Given the description of an element on the screen output the (x, y) to click on. 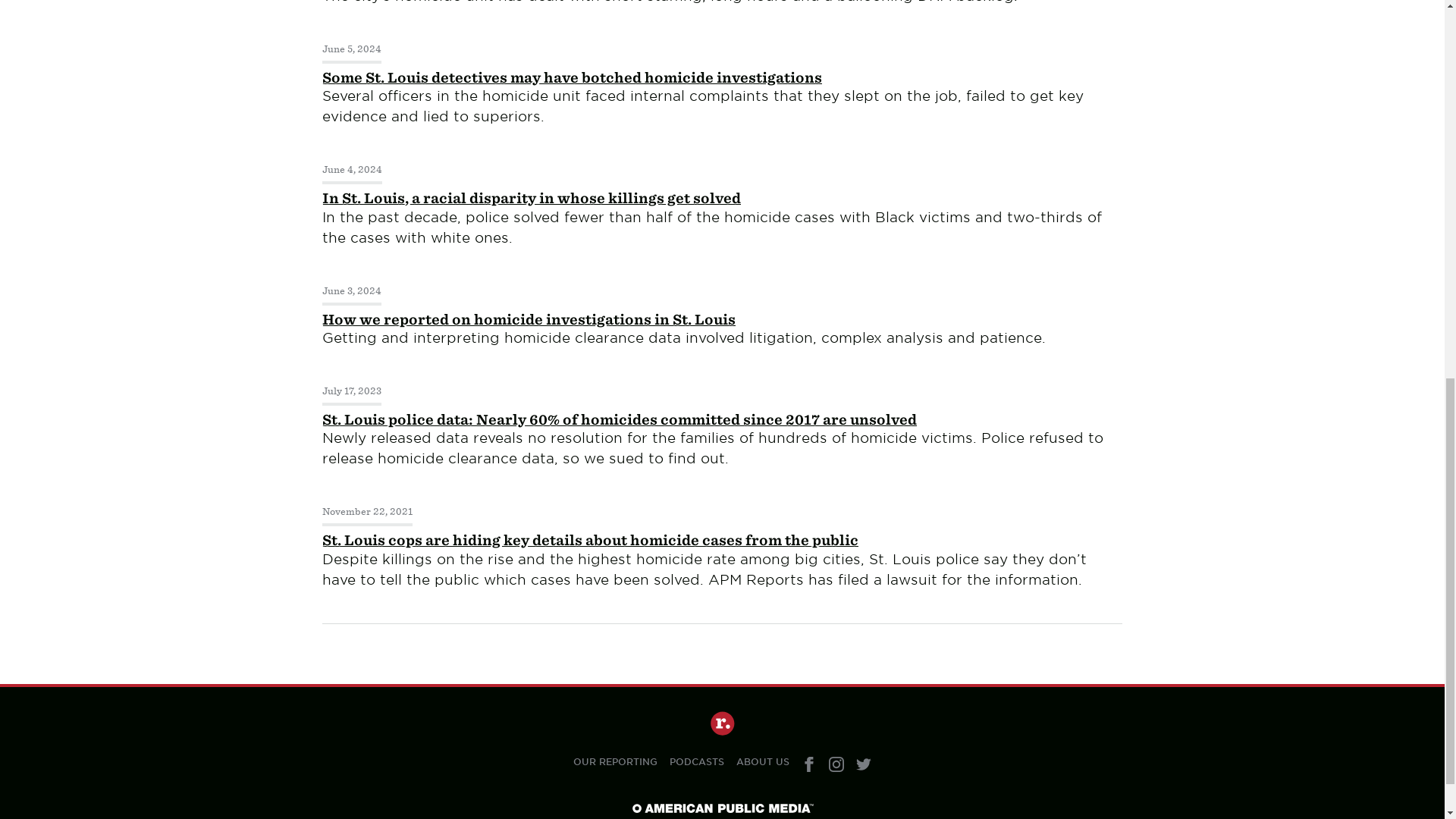
TWITTER (863, 764)
FACEBOOK (809, 764)
INSTAGRAM (836, 764)
American Public Media (721, 807)
APM Reports (721, 723)
